Given the description of an element on the screen output the (x, y) to click on. 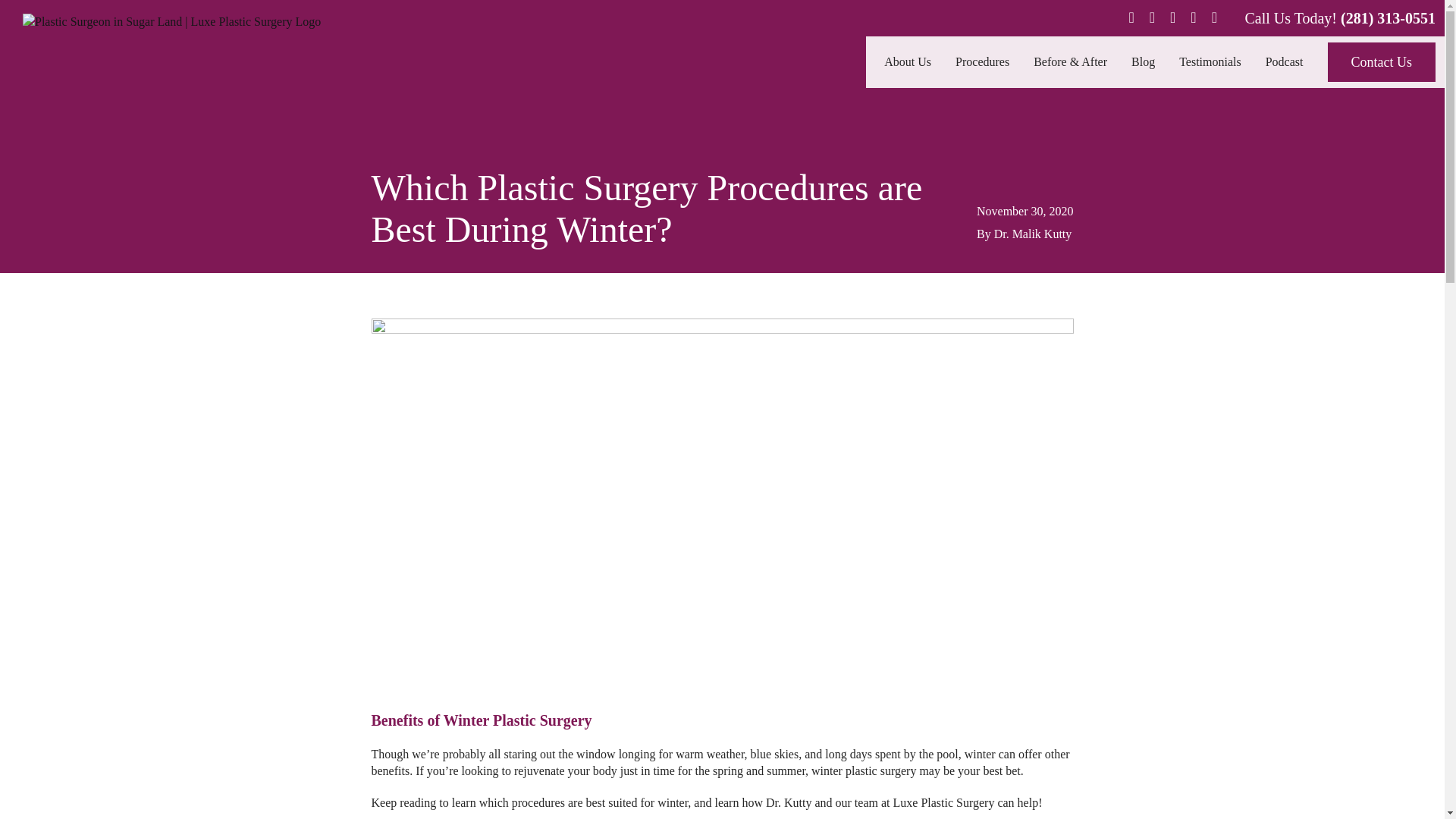
Procedures (982, 61)
About Us (907, 61)
